Given the description of an element on the screen output the (x, y) to click on. 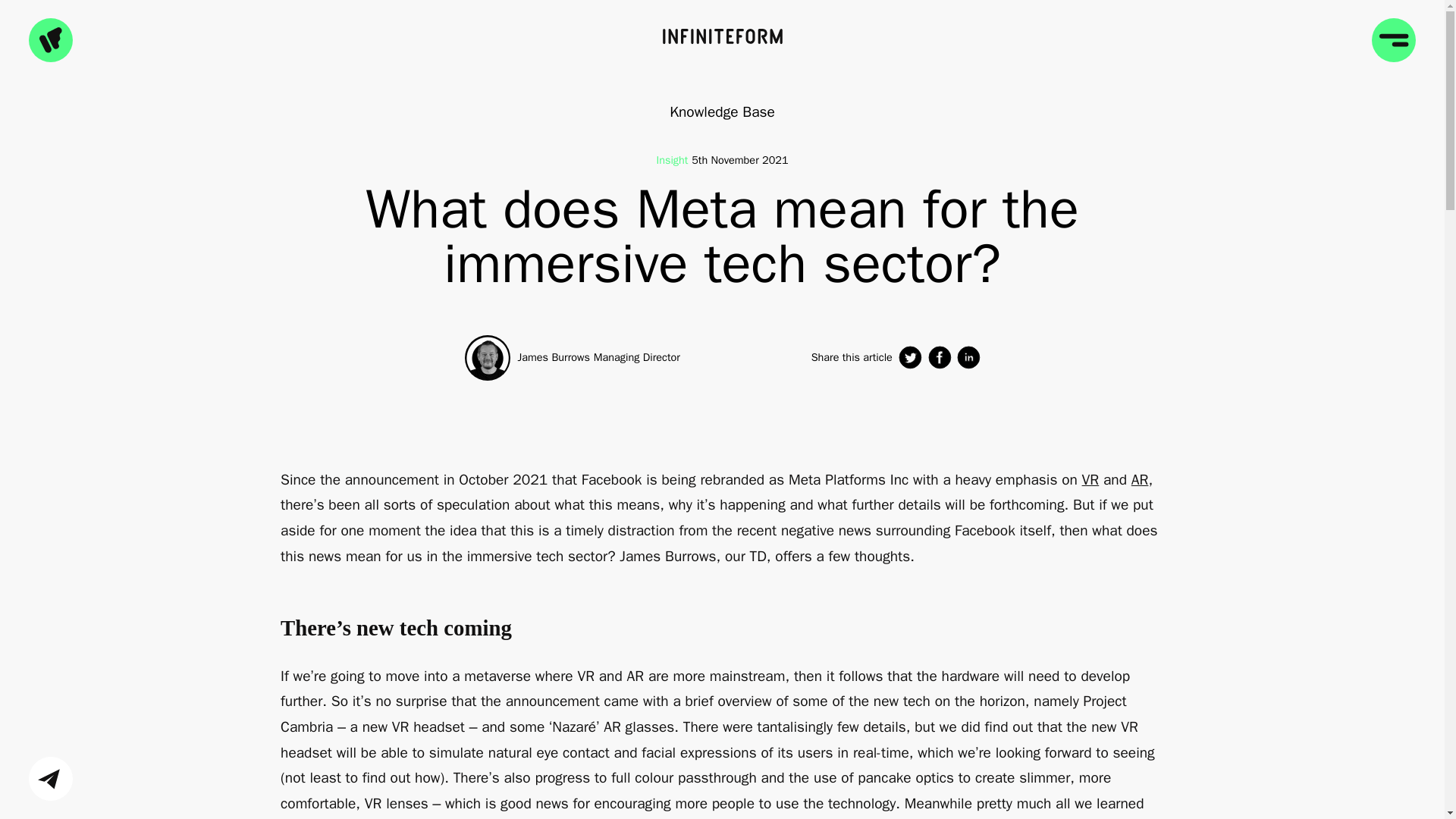
VR (1090, 479)
Insight (673, 160)
AR (1139, 479)
